Given the description of an element on the screen output the (x, y) to click on. 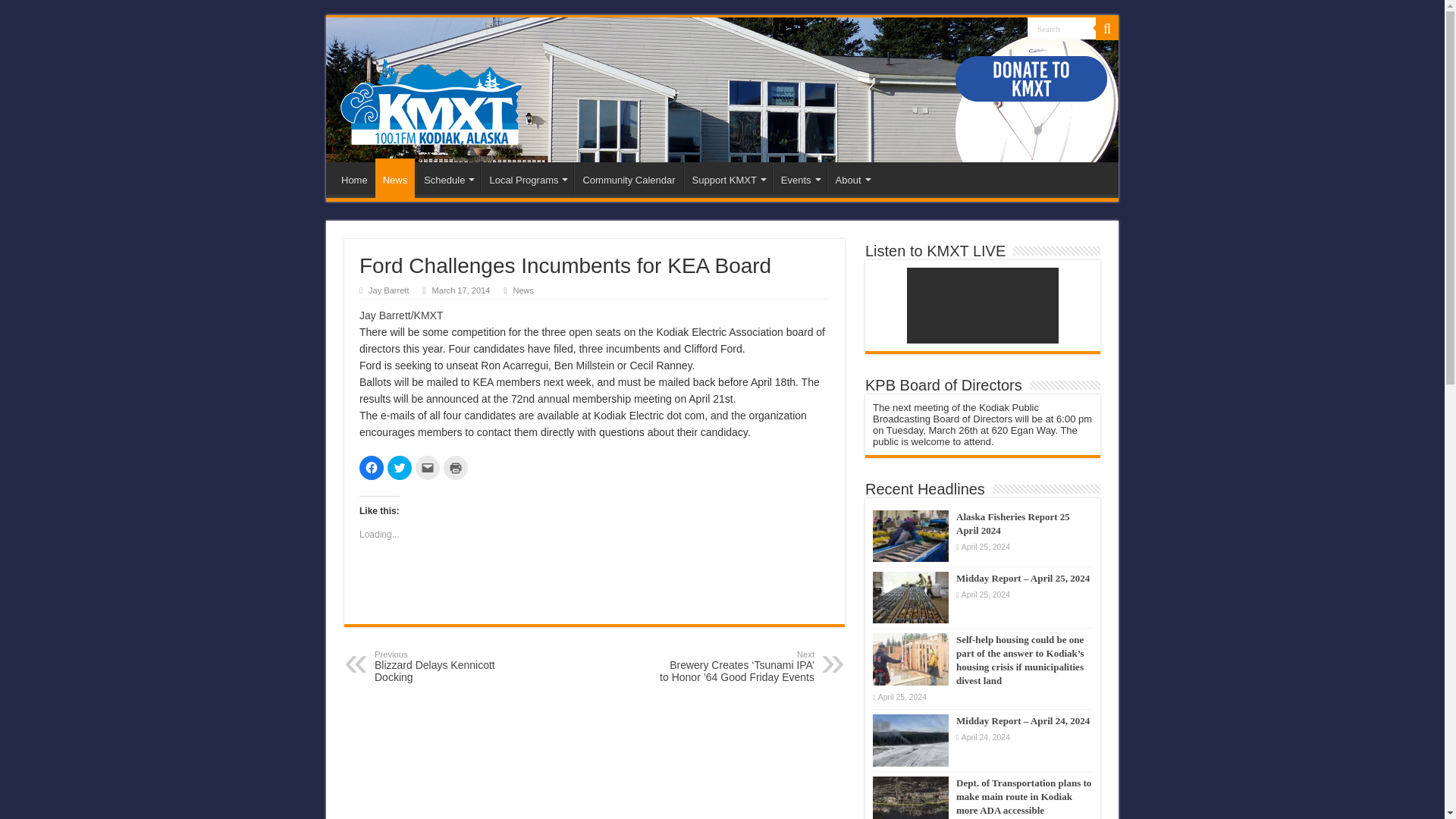
Search (1061, 28)
KMXT 100.1 FM (430, 98)
Click to email a link to a friend (426, 467)
Click to share on Facebook (371, 467)
Like or Reblog (594, 588)
Click to share on Twitter (399, 467)
Click to print (455, 467)
Search (1061, 28)
Search (1061, 28)
